Given the description of an element on the screen output the (x, y) to click on. 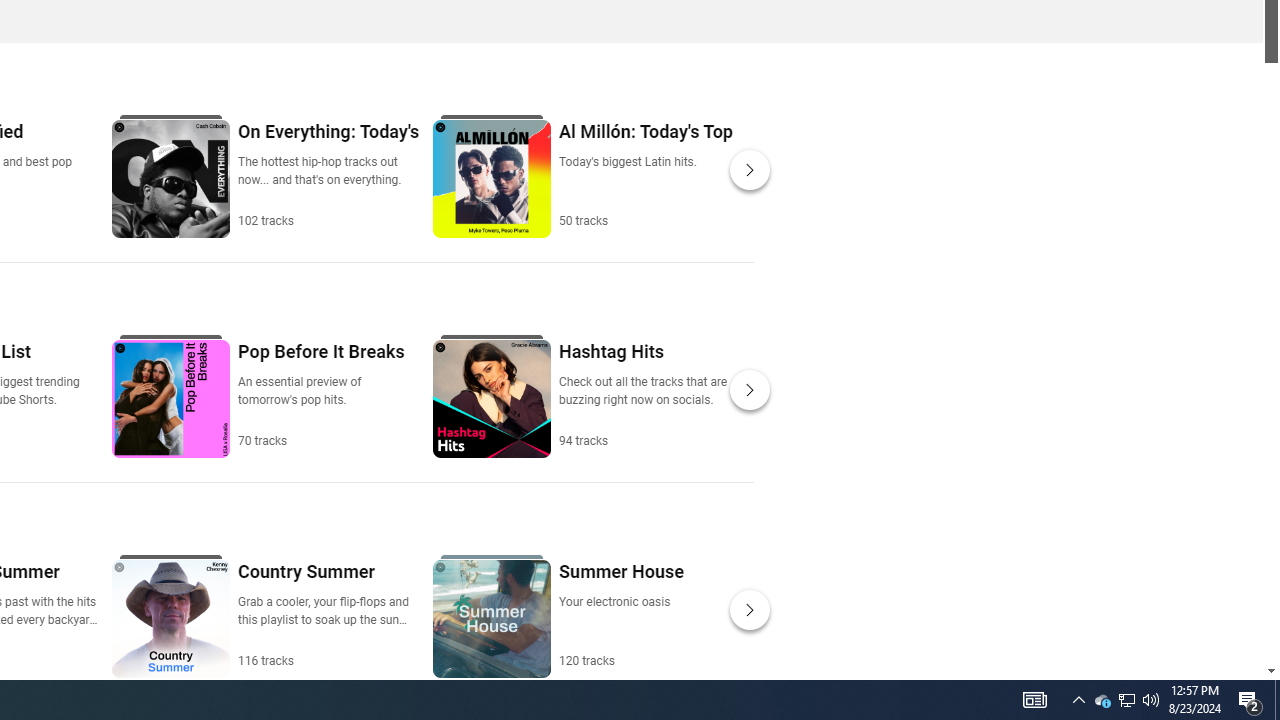
Next (749, 609)
Summer House Your electronic oasis 120 tracks (620, 614)
